Given the description of an element on the screen output the (x, y) to click on. 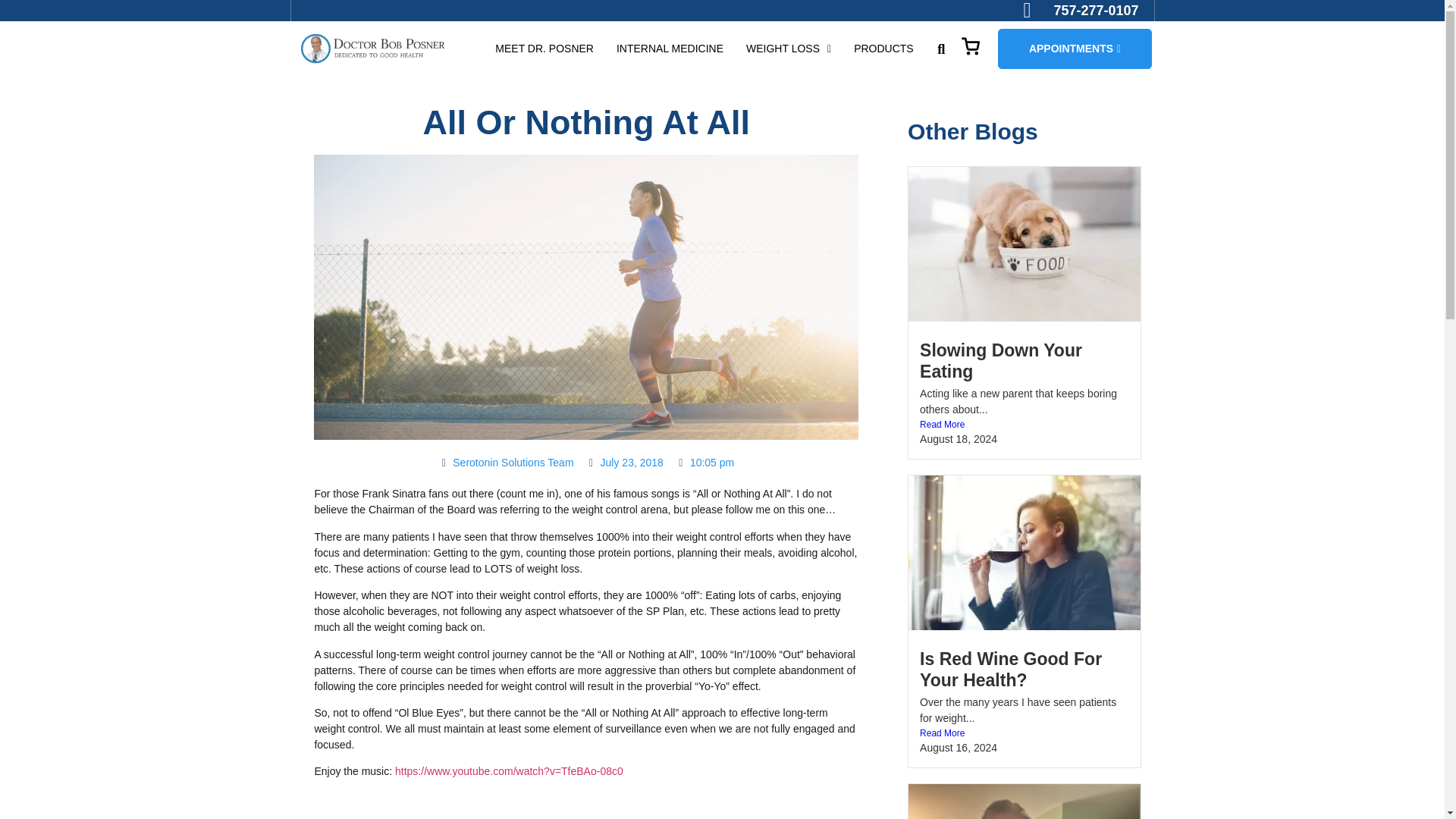
757-277-0107 (1080, 10)
Is Red Wine Good For Your Health? (1011, 669)
PRODUCTS (883, 48)
Slowing Down Your Eating (1000, 360)
APPOINTMENTS (1074, 48)
INTERNAL MEDICINE (669, 48)
MEET DR. POSNER (544, 48)
WEIGHT LOSS (788, 48)
